Given the description of an element on the screen output the (x, y) to click on. 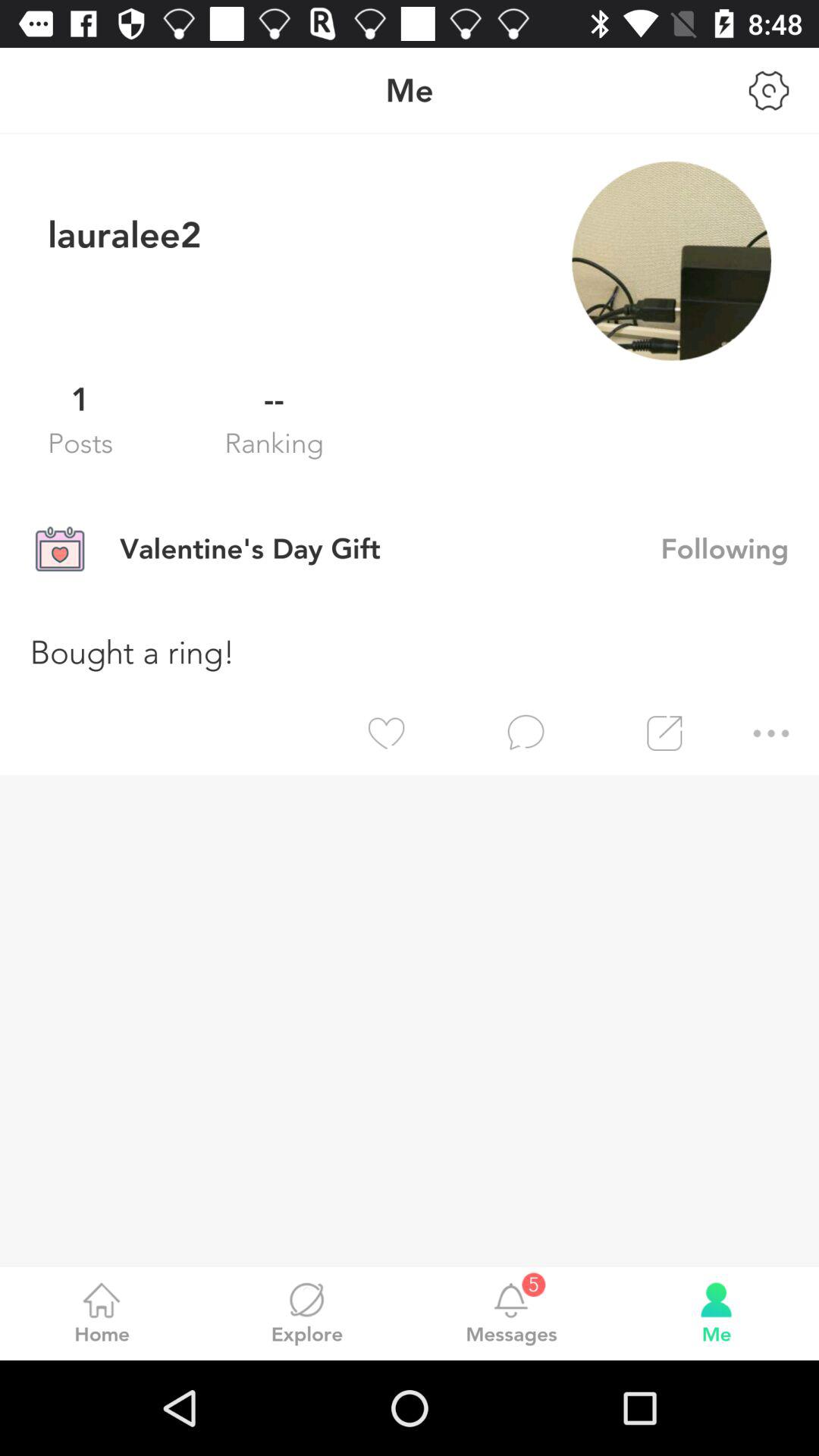
click item next to lauralee2 item (671, 260)
